Given the description of an element on the screen output the (x, y) to click on. 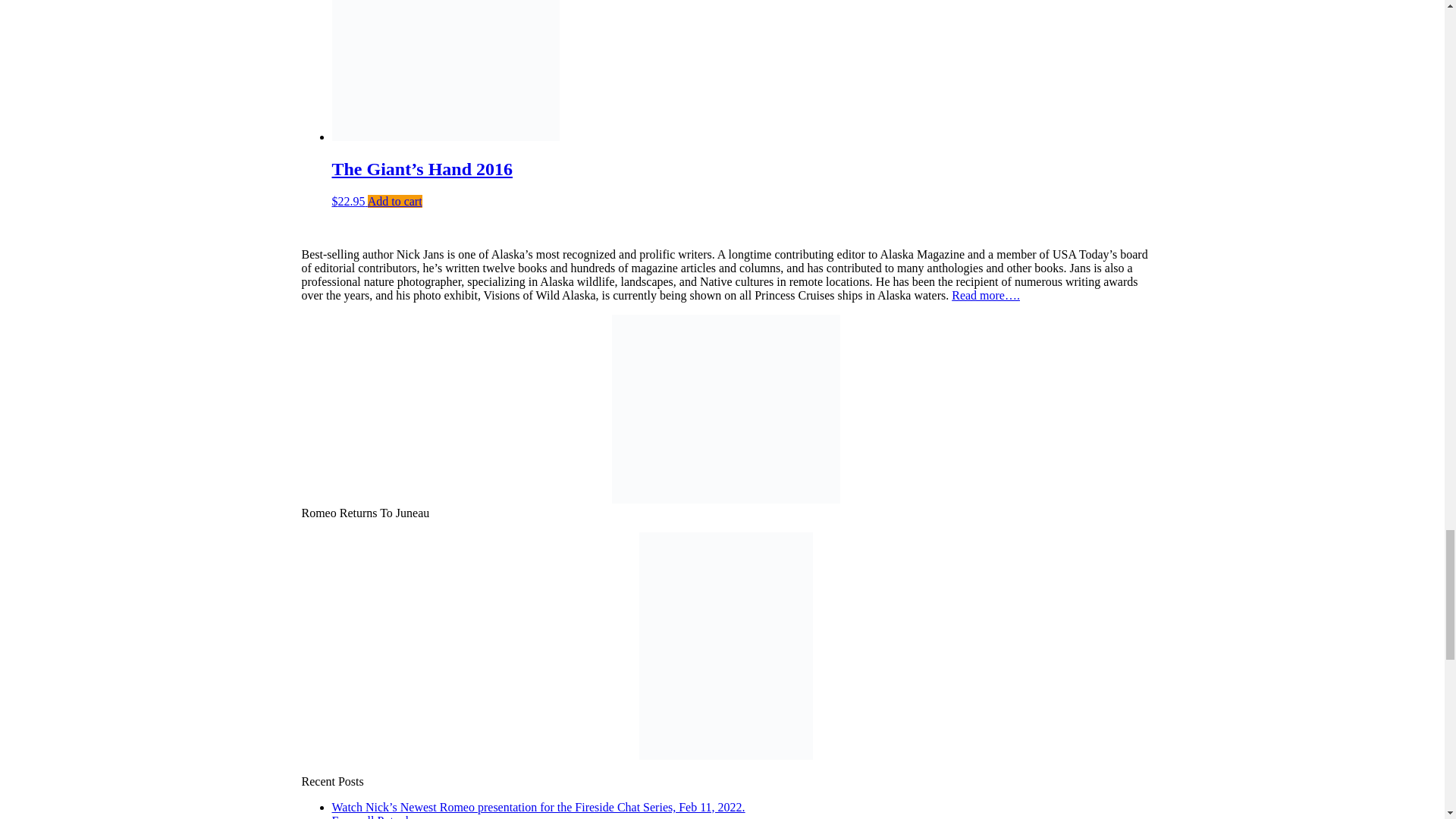
Add to cart (395, 201)
Farewell Putyuk (371, 816)
